Given the description of an element on the screen output the (x, y) to click on. 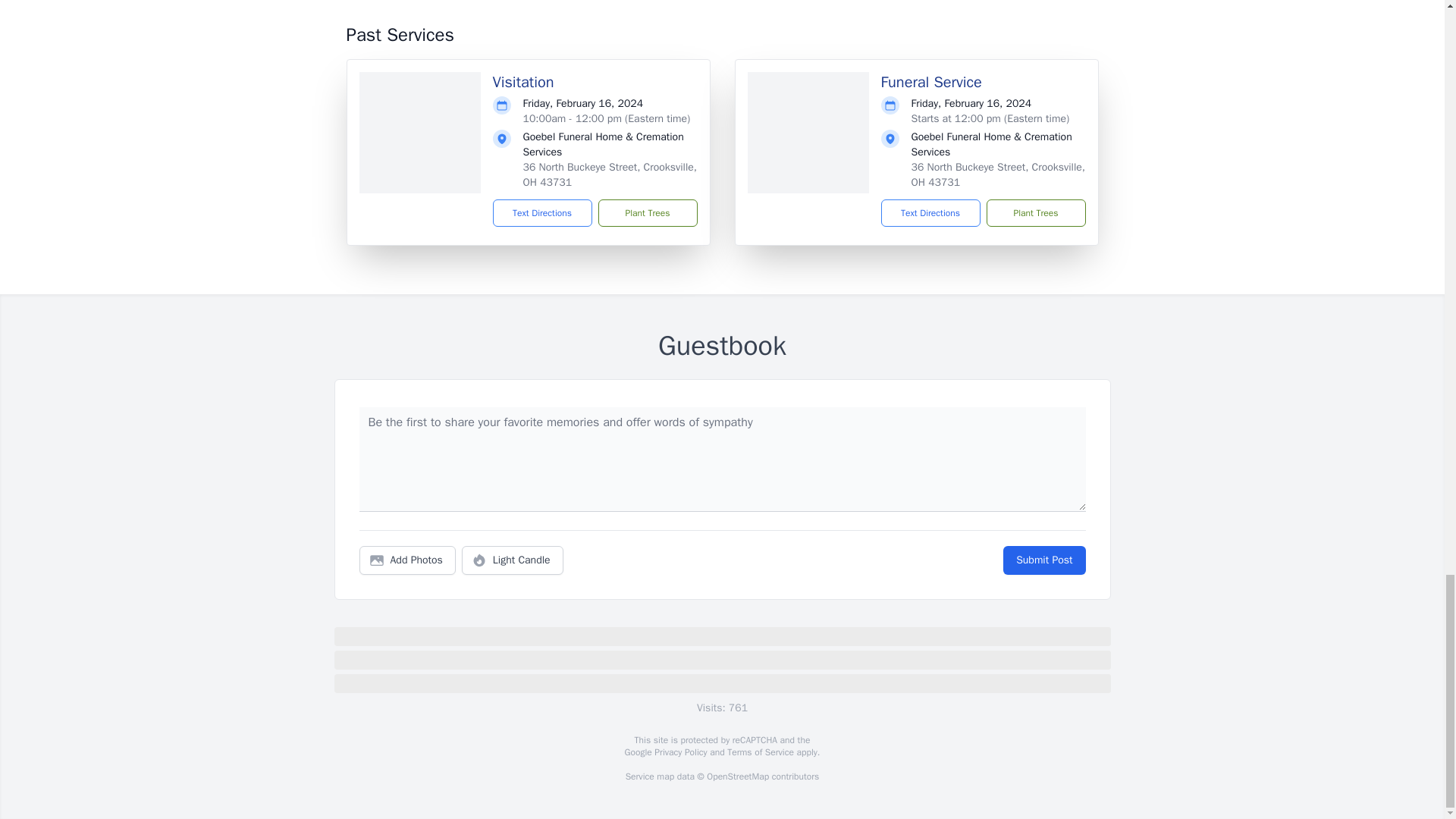
36 North Buckeye Street, Crooksville, OH 43731 (609, 174)
Add Photos (407, 560)
Text Directions (929, 212)
Plant Trees (1034, 212)
Light Candle (512, 560)
36 North Buckeye Street, Crooksville, OH 43731 (998, 174)
Privacy Policy (679, 752)
OpenStreetMap (737, 776)
Submit Post (1043, 560)
Plant Trees (646, 212)
